Given the description of an element on the screen output the (x, y) to click on. 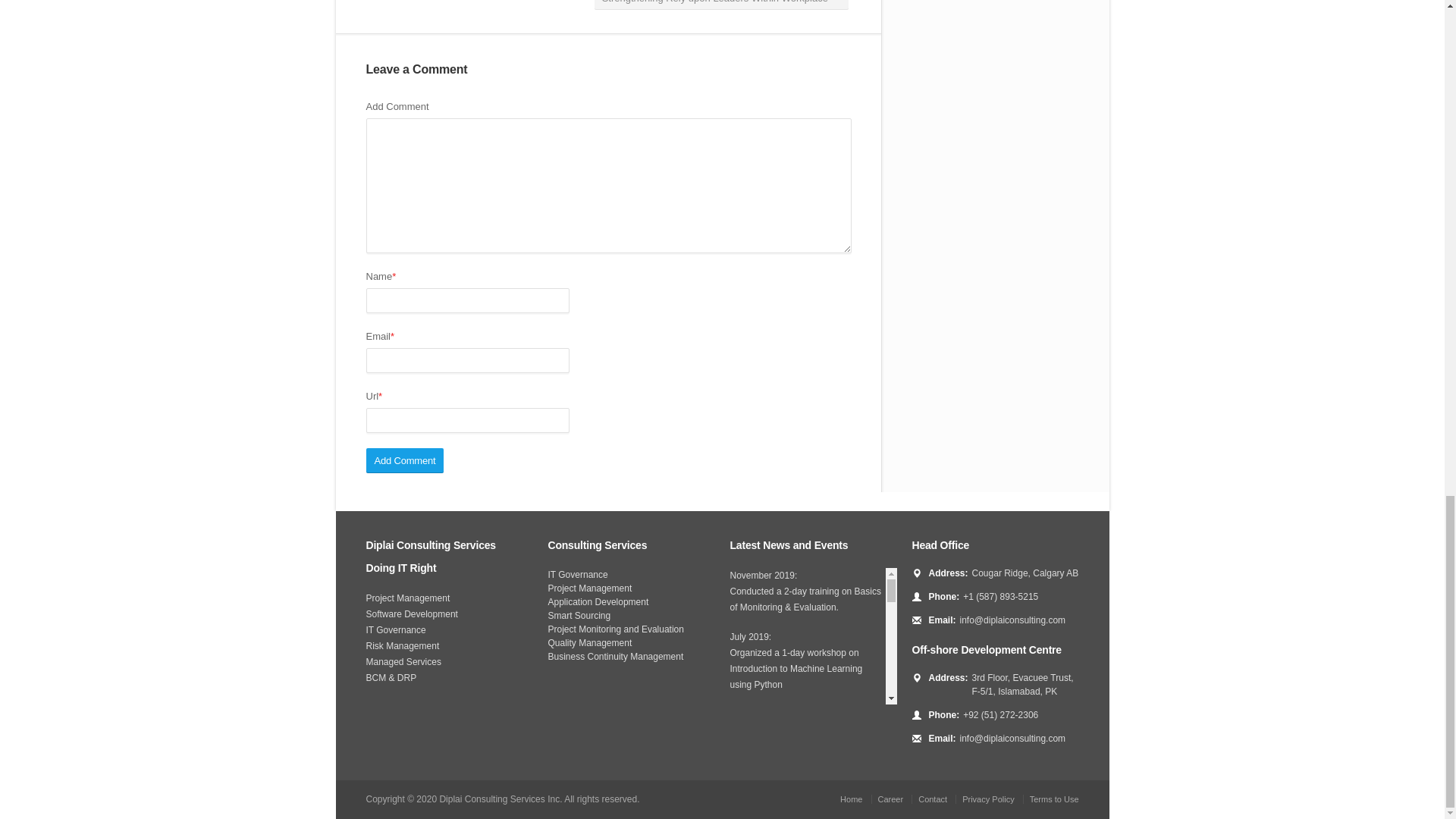
Add Comment (404, 460)
Add Comment (404, 460)
